Given the description of an element on the screen output the (x, y) to click on. 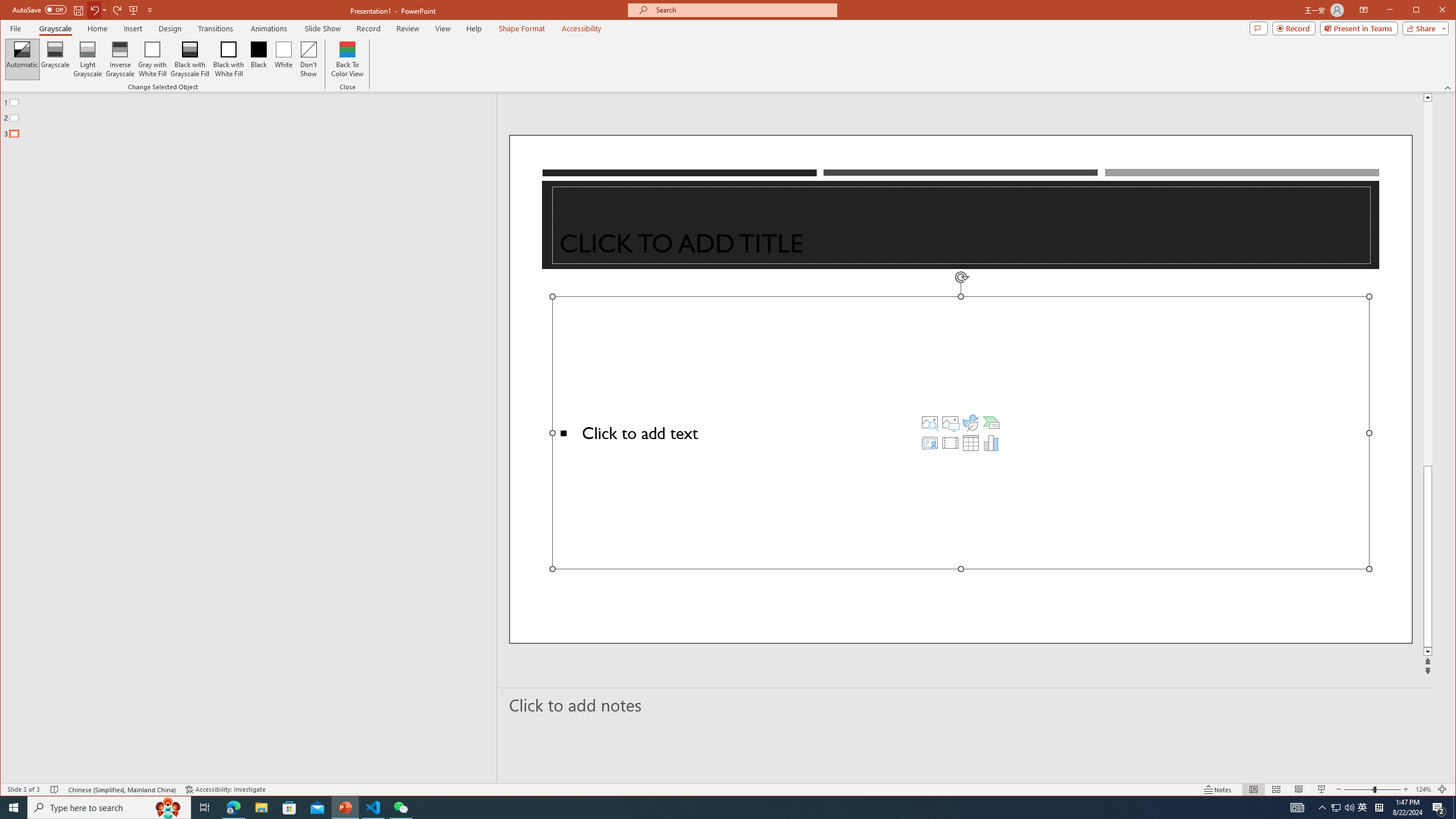
Insert Video (949, 443)
Gray with White Fill (152, 59)
WeChat - 1 running window (400, 807)
